Given the description of an element on the screen output the (x, y) to click on. 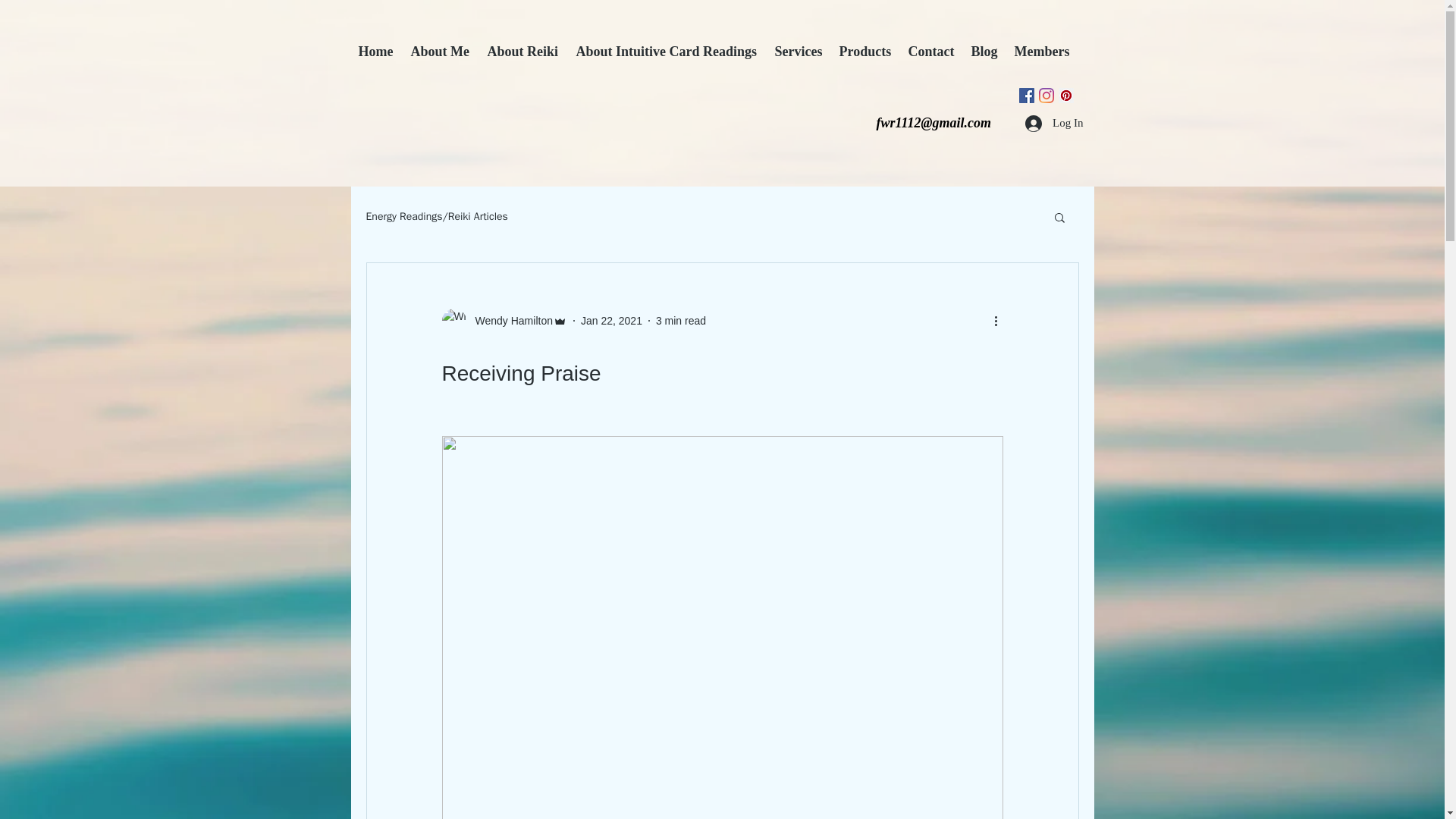
About Reiki (523, 50)
About Intuitive Card Readings (668, 50)
Log In (1053, 123)
Blog (984, 50)
About Me (441, 50)
Home (376, 50)
Members (1042, 50)
Contact (932, 50)
Wendy Hamilton (508, 320)
Products (865, 50)
Jan 22, 2021 (611, 319)
3 min read (681, 319)
Services (799, 50)
Wendy Hamilton (503, 320)
